Given the description of an element on the screen output the (x, y) to click on. 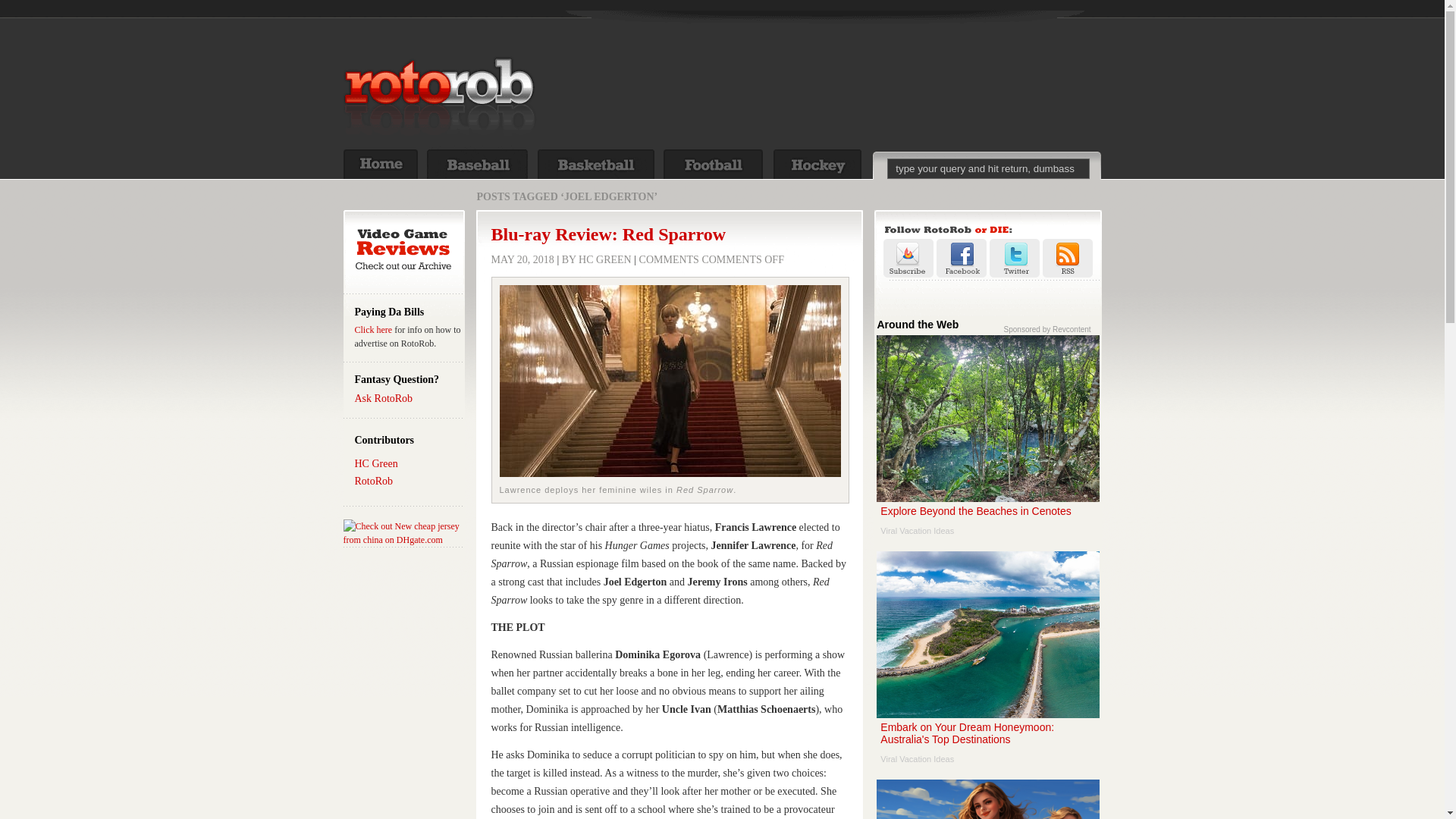
Ask RotoRob (384, 398)
Permanent Link to Blu-ray Review: Red Sparrow (987, 440)
Embark on Your Dream Honeymoon: Australia's Top Destinations (609, 234)
Click here (987, 662)
Blu-ray Review: Red Sparrow (374, 329)
20 Extremely Special Beaches Around the World (609, 234)
type your query and hit return, dumbass (987, 799)
HC Green (987, 168)
Check out New cheap jersey from china on DHgate.com (376, 463)
RotoRob (987, 799)
Explore Beyond the Beaches in Cenotes (403, 533)
